Given the description of an element on the screen output the (x, y) to click on. 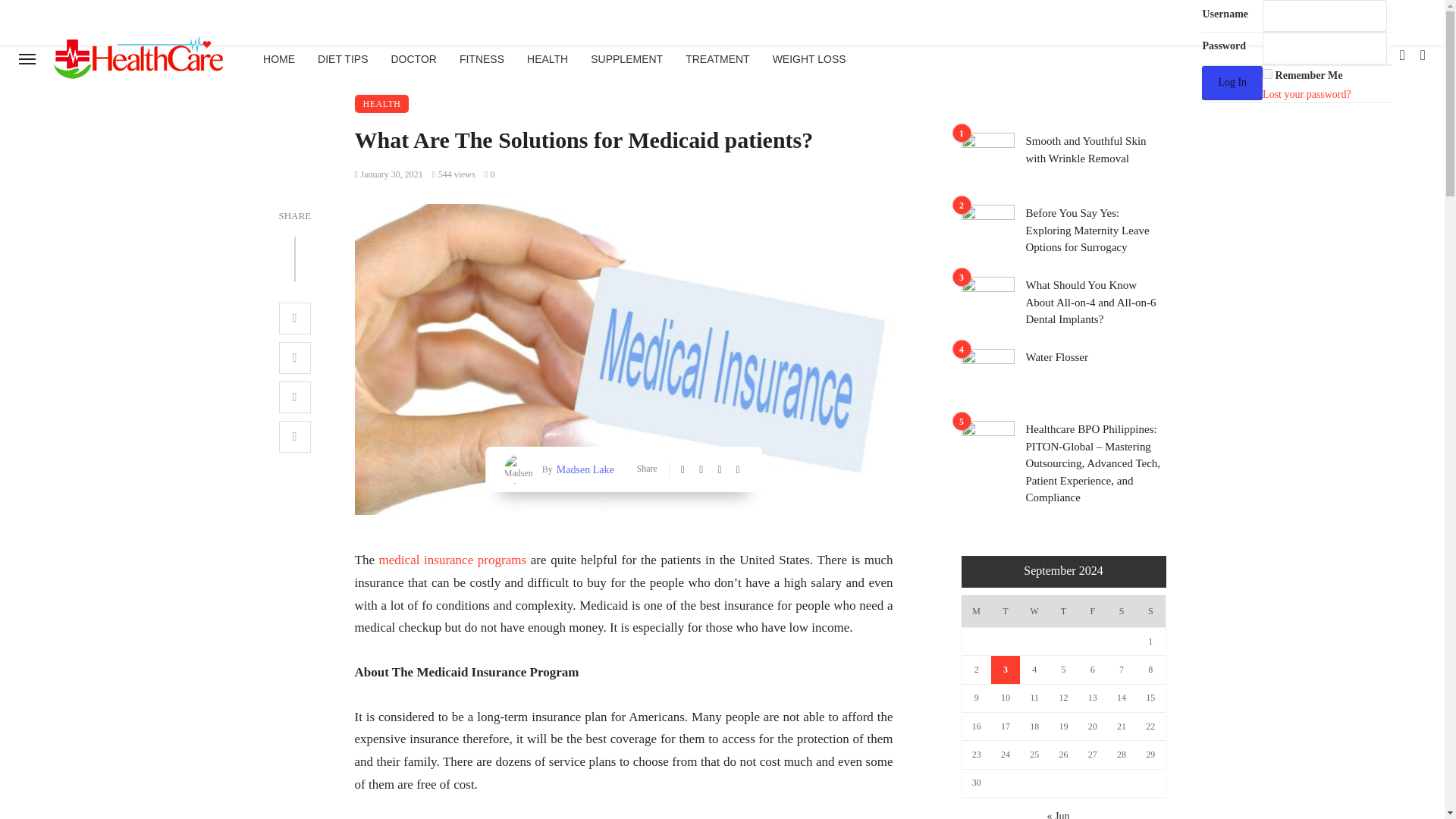
FITNESS (481, 58)
Log In (1232, 82)
HEALTH (382, 104)
Share on Twitter (295, 357)
0 Comments (489, 173)
Log In (1232, 82)
Share on Facebook (295, 318)
medical insurance programs (451, 559)
TREATMENT (717, 58)
HEALTH (547, 58)
